Given the description of an element on the screen output the (x, y) to click on. 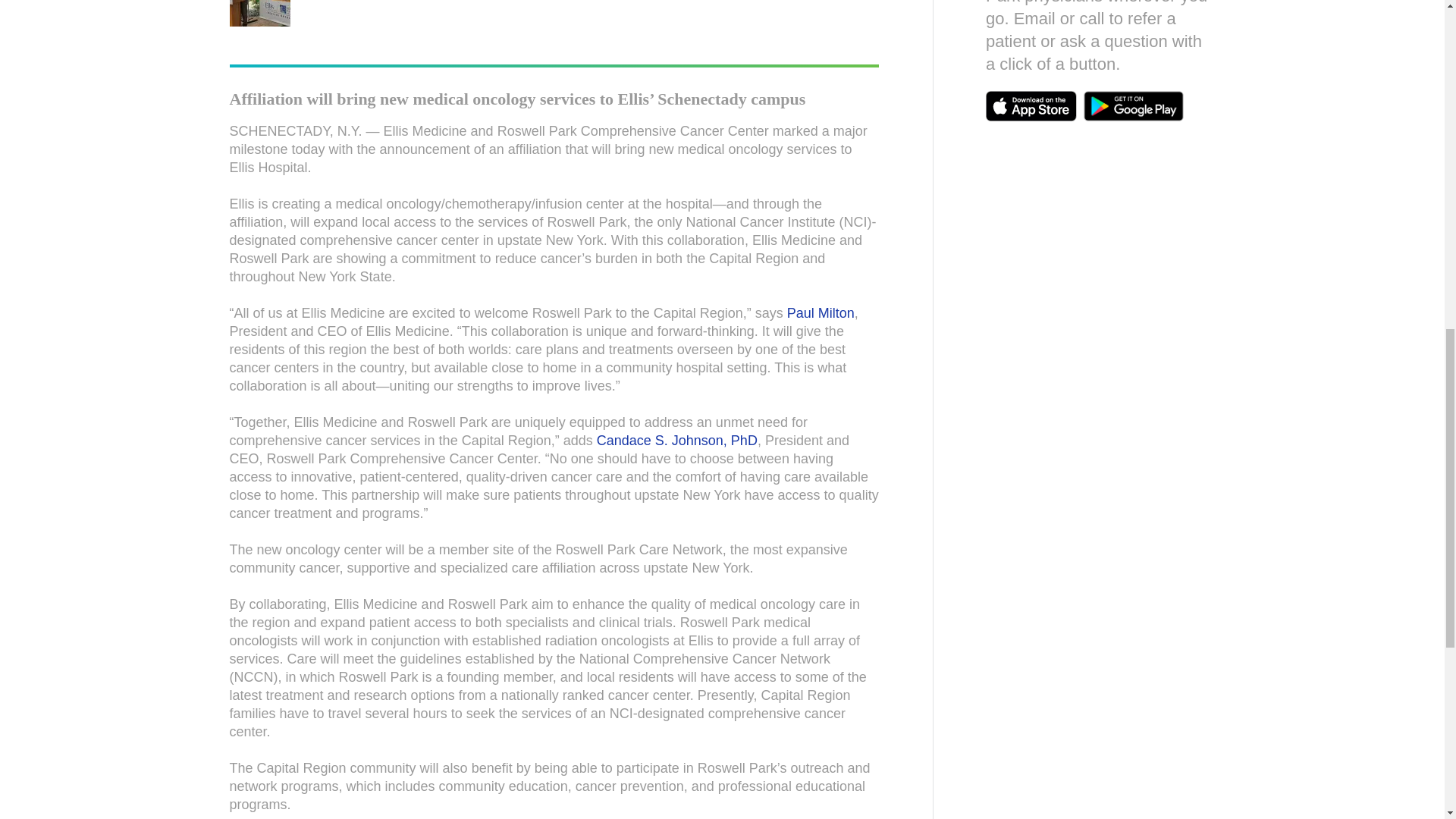
Candace S. Johnson, PhD (676, 440)
Ellis Medicine (258, 13)
Paul Milton (820, 313)
